Given the description of an element on the screen output the (x, y) to click on. 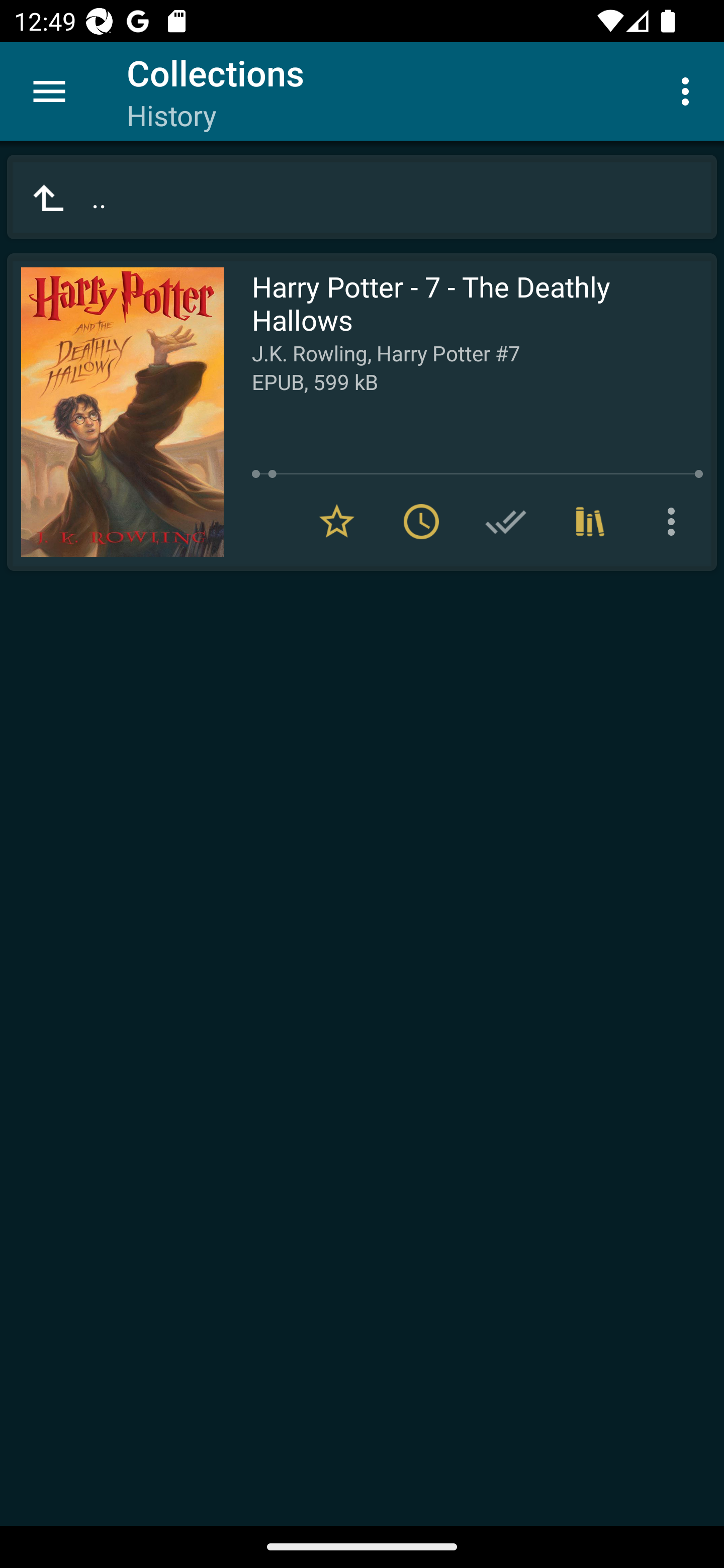
Menu (49, 91)
More options (688, 90)
.. (361, 197)
Read Harry Potter - 7 - The Deathly Hallows (115, 412)
Remove from Favorites (336, 521)
Remove from To read (421, 521)
Add to Have read (505, 521)
Collections (3) (590, 521)
More options (674, 521)
